Given the description of an element on the screen output the (x, y) to click on. 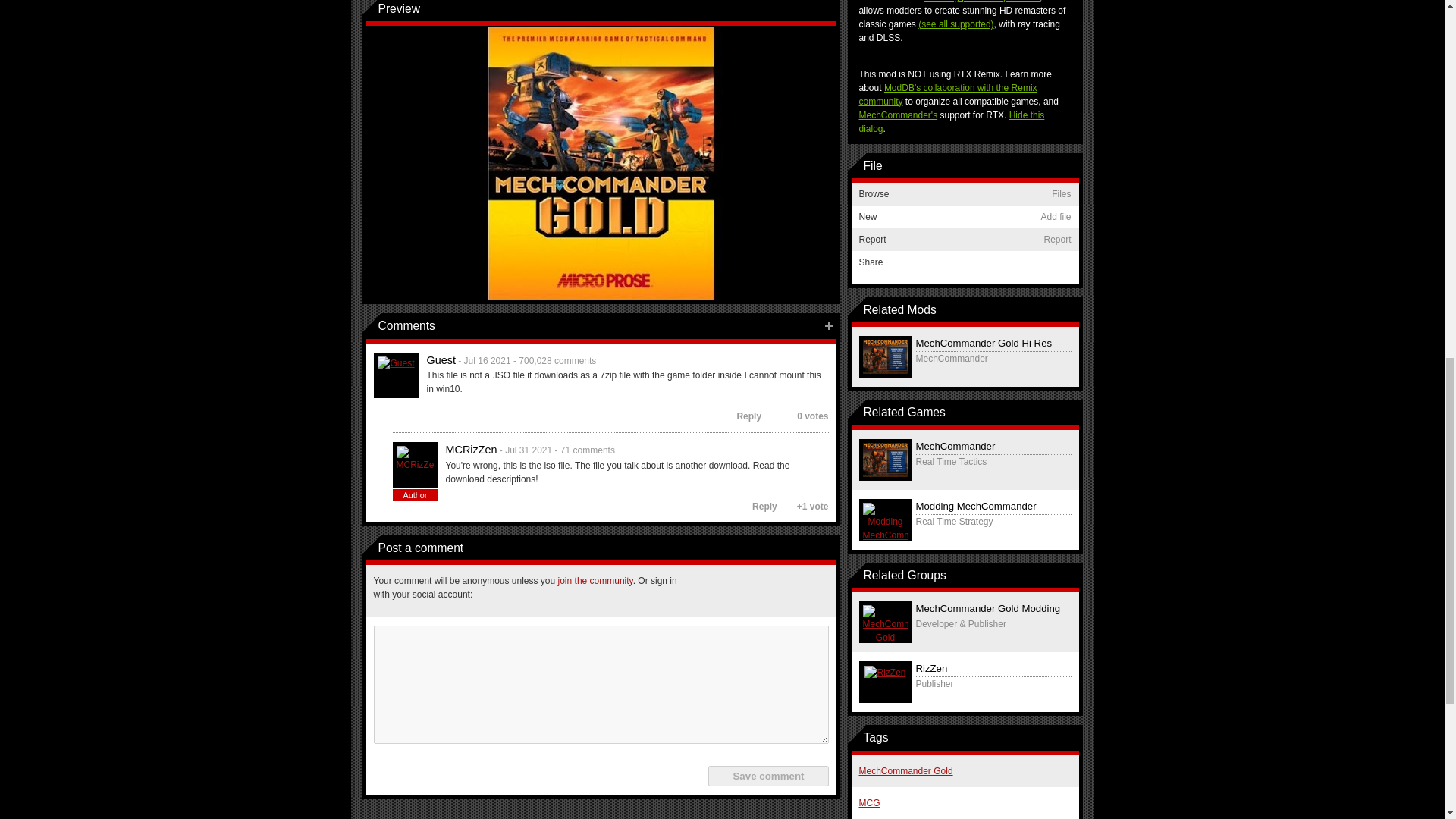
Save comment (767, 775)
